Given the description of an element on the screen output the (x, y) to click on. 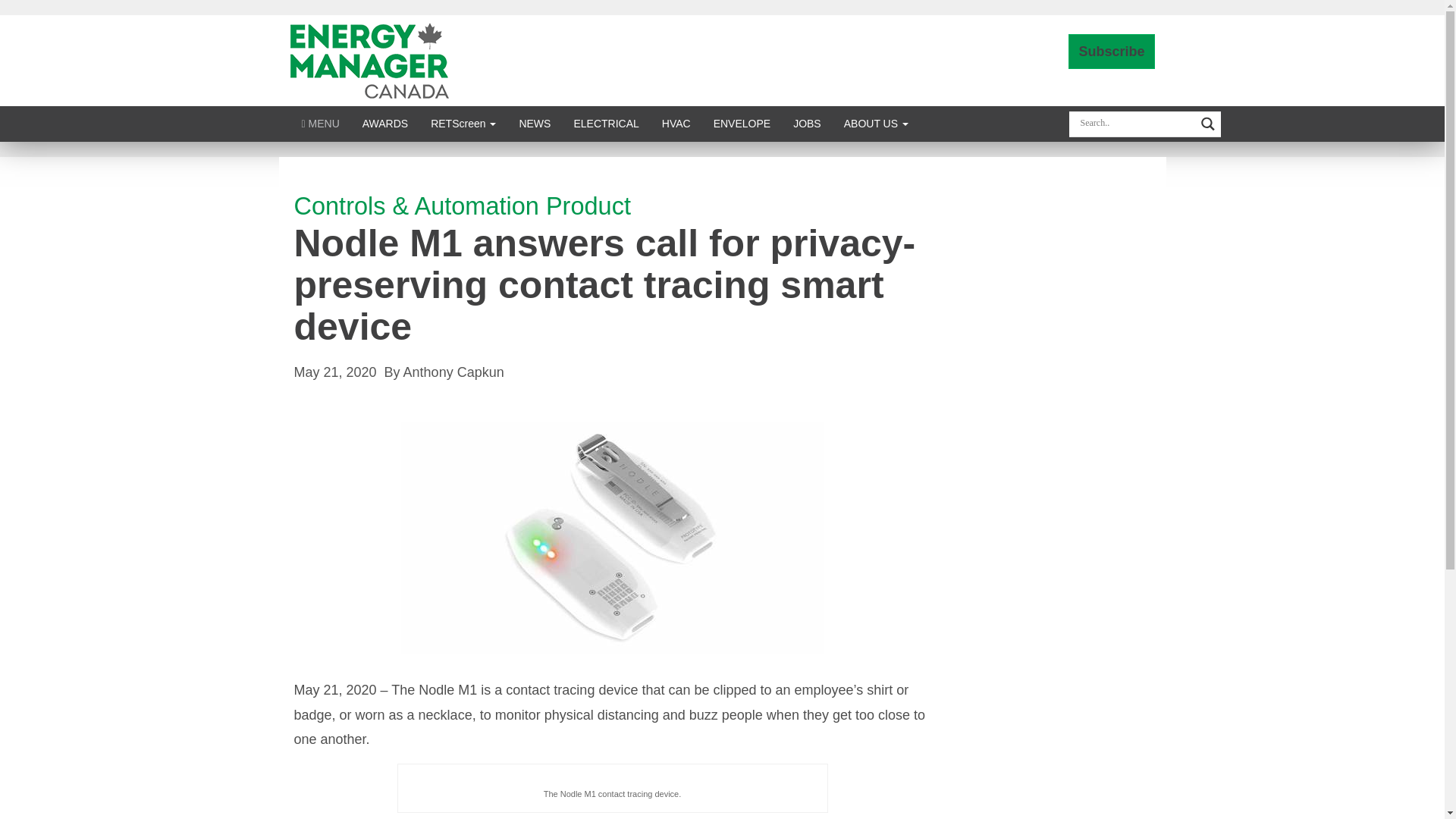
Energy Manager (368, 59)
ABOUT US (876, 123)
AWARDS (384, 123)
ENVELOPE (741, 123)
ELECTRICAL (605, 123)
Click to show site navigation (319, 123)
RETScreen (462, 123)
NEWS (534, 123)
Subscribe (1111, 51)
HVAC (675, 123)
Subscribe (1111, 51)
JOBS (806, 123)
MENU (319, 123)
